Given the description of an element on the screen output the (x, y) to click on. 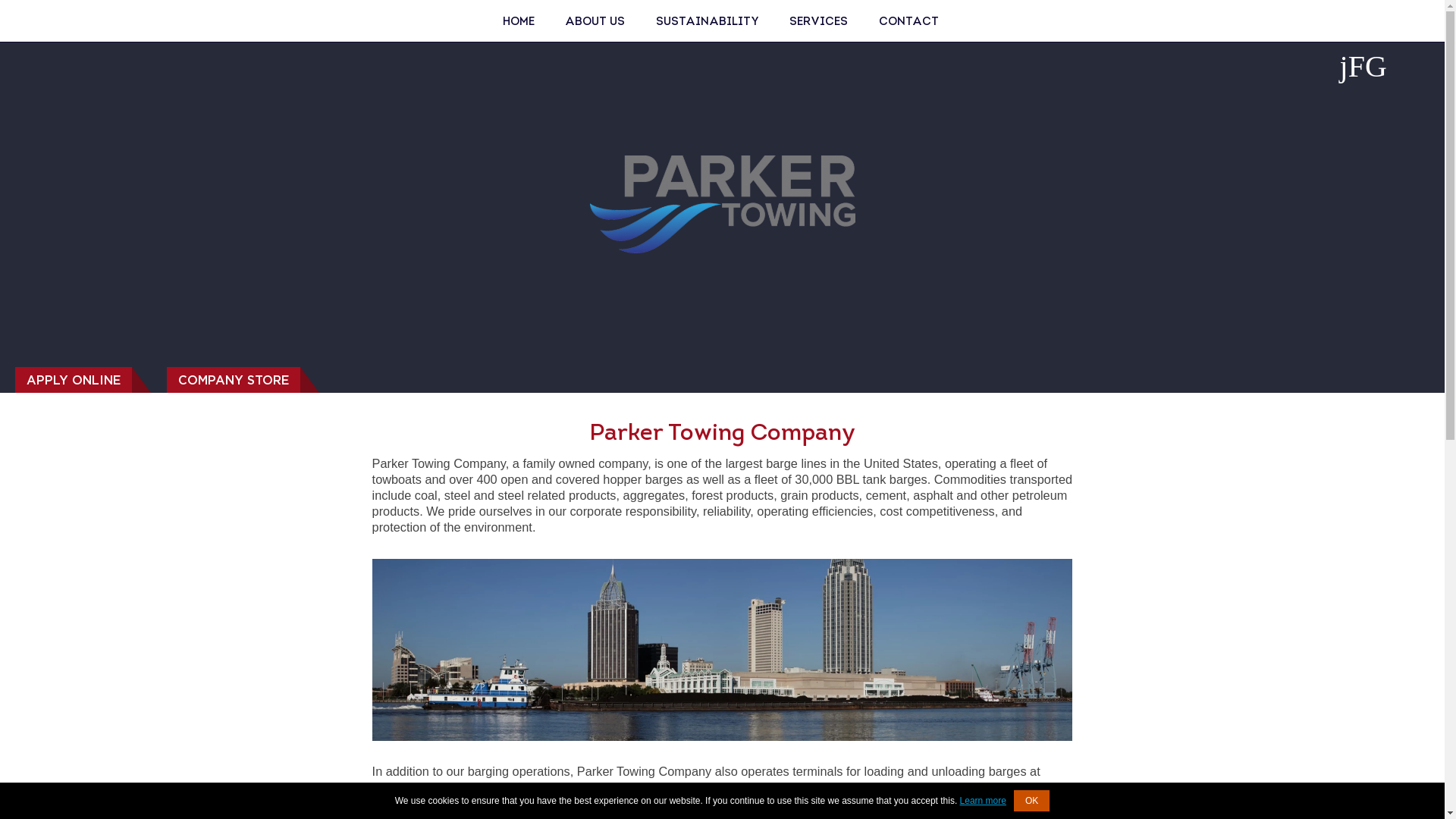
APPLY ONLINE (73, 379)
SUSTAINABILITY (707, 20)
HOME (518, 20)
SERVICES (818, 20)
CONTACT (908, 20)
Parker Towing (518, 20)
